Given the description of an element on the screen output the (x, y) to click on. 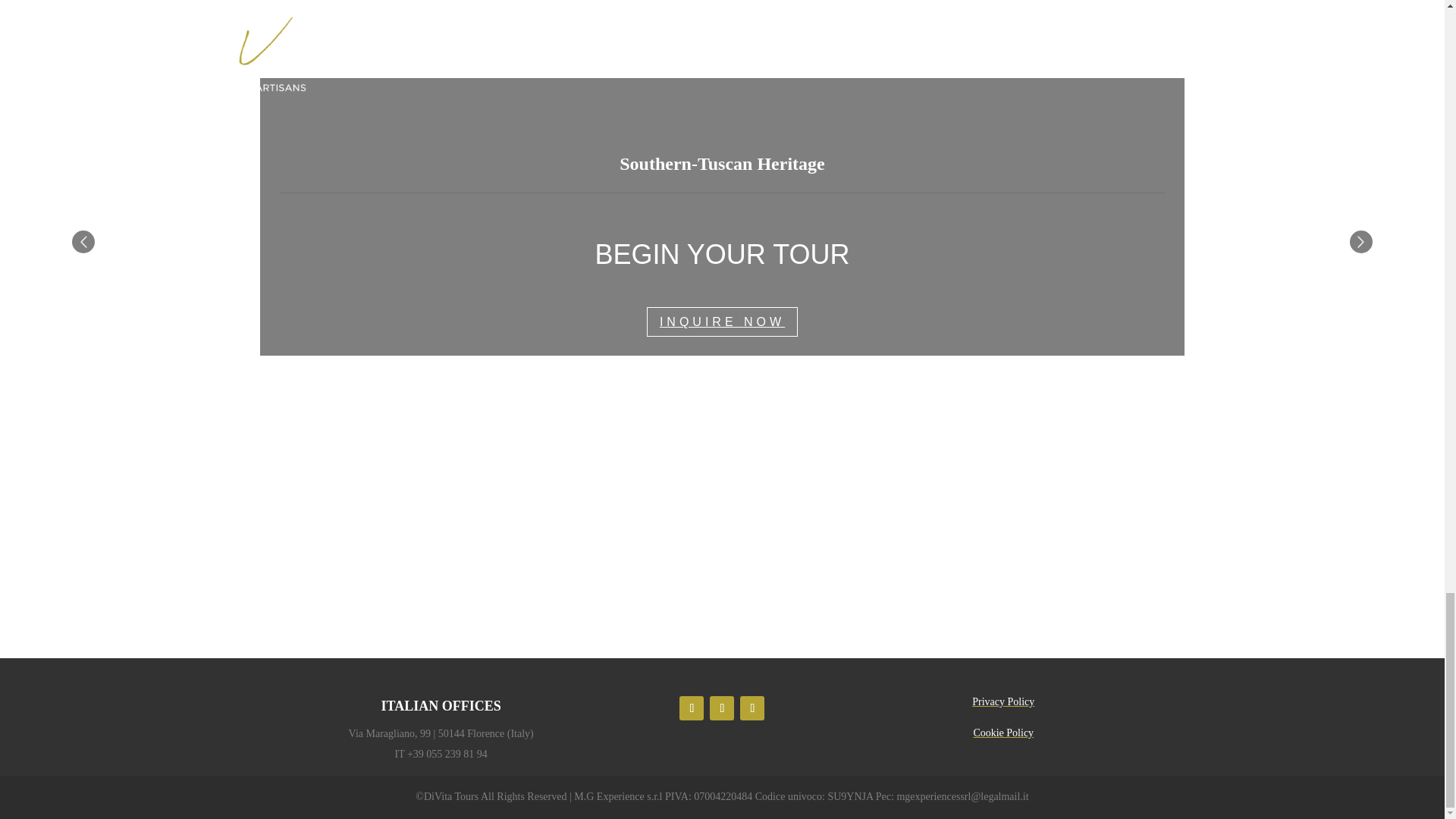
Follow on Instagram (691, 708)
Previous (82, 241)
Follow on Facebook (751, 708)
Follow on LinkedIn (721, 708)
